Given the description of an element on the screen output the (x, y) to click on. 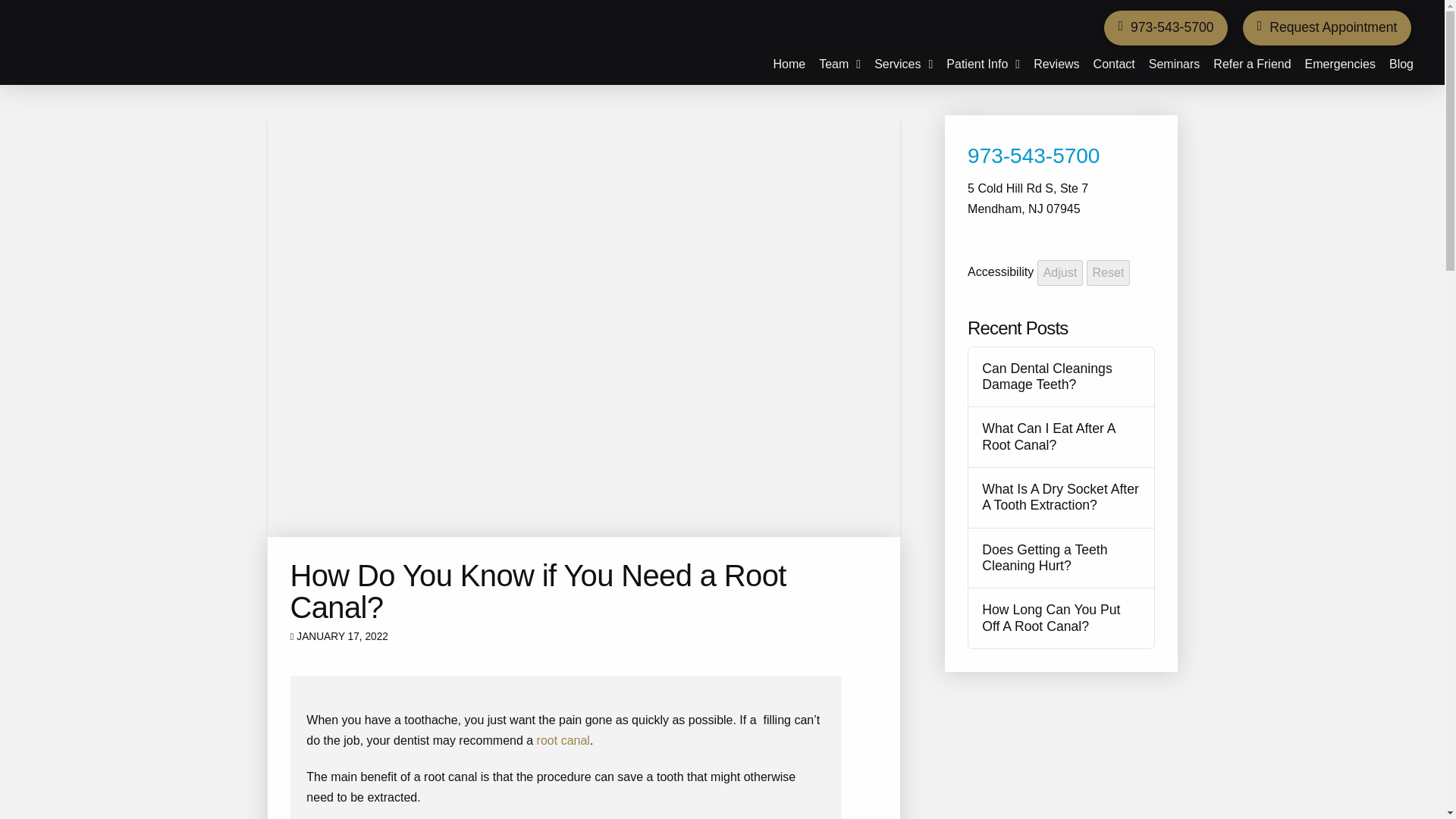
Refer a Friend (1252, 59)
Services (903, 59)
Blog (1401, 59)
Phone Number (1033, 155)
973-543-5700 (1165, 27)
Reviews (1056, 59)
Emergencies (1339, 59)
Patient Info (982, 59)
Home (788, 59)
Request Appointment (1326, 27)
